Given the description of an element on the screen output the (x, y) to click on. 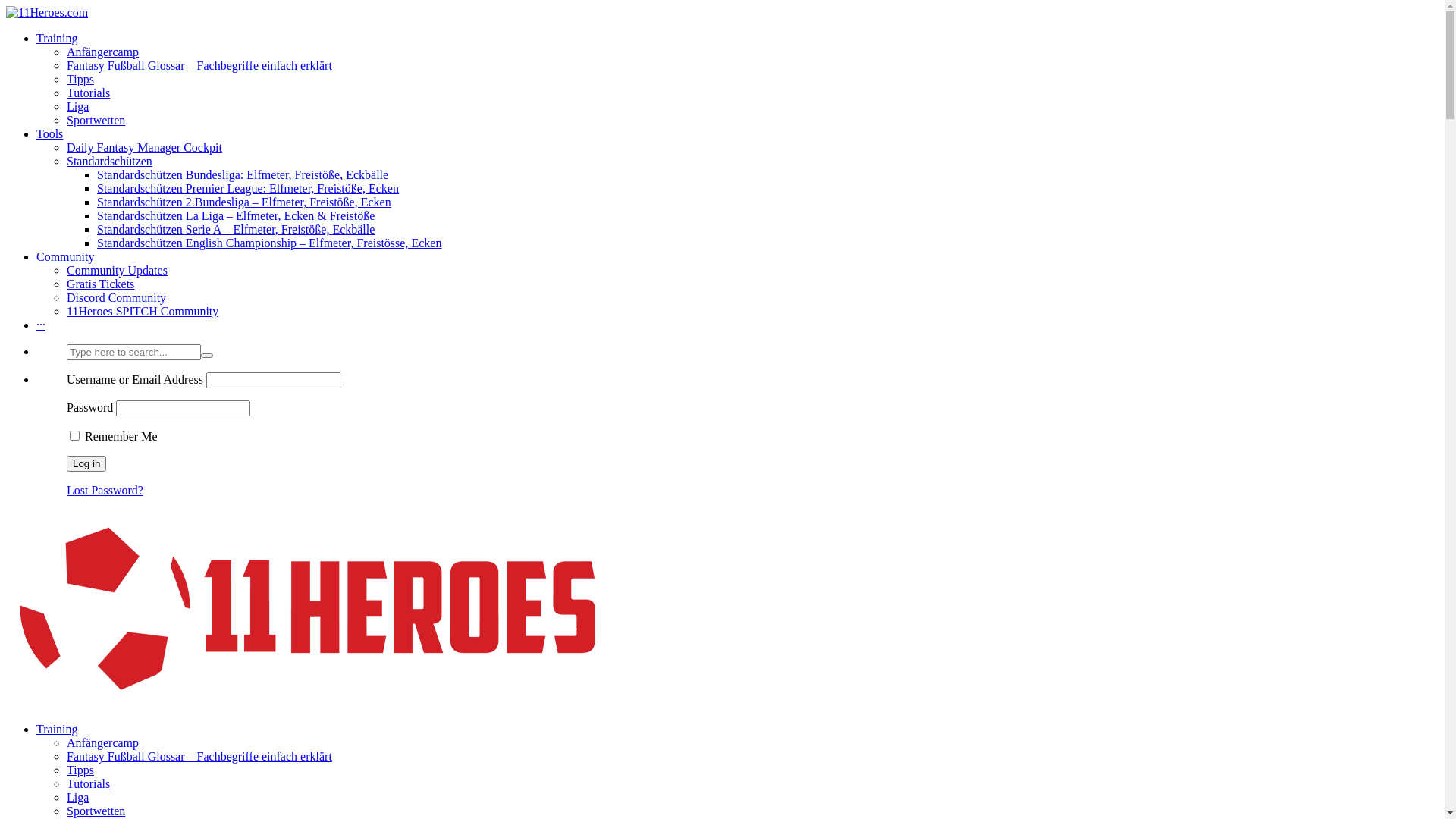
Sportwetten Element type: text (95, 119)
Training Element type: text (57, 37)
11Heroes SPITCH Community Element type: text (142, 310)
Discord Community Element type: text (116, 297)
Community Updates Element type: text (116, 269)
Sportwetten Element type: text (95, 810)
Lost Password? Element type: text (104, 489)
Liga Element type: text (77, 796)
Tutorials Element type: text (87, 92)
Log in Element type: text (86, 463)
Liga Element type: text (77, 106)
Tipps Element type: text (80, 78)
Community Element type: text (65, 256)
Tipps Element type: text (80, 769)
Tools Element type: text (49, 133)
Gratis Tickets Element type: text (100, 283)
Tutorials Element type: text (87, 783)
Training Element type: text (57, 728)
Daily Fantasy Manager Cockpit Element type: text (144, 147)
